Given the description of an element on the screen output the (x, y) to click on. 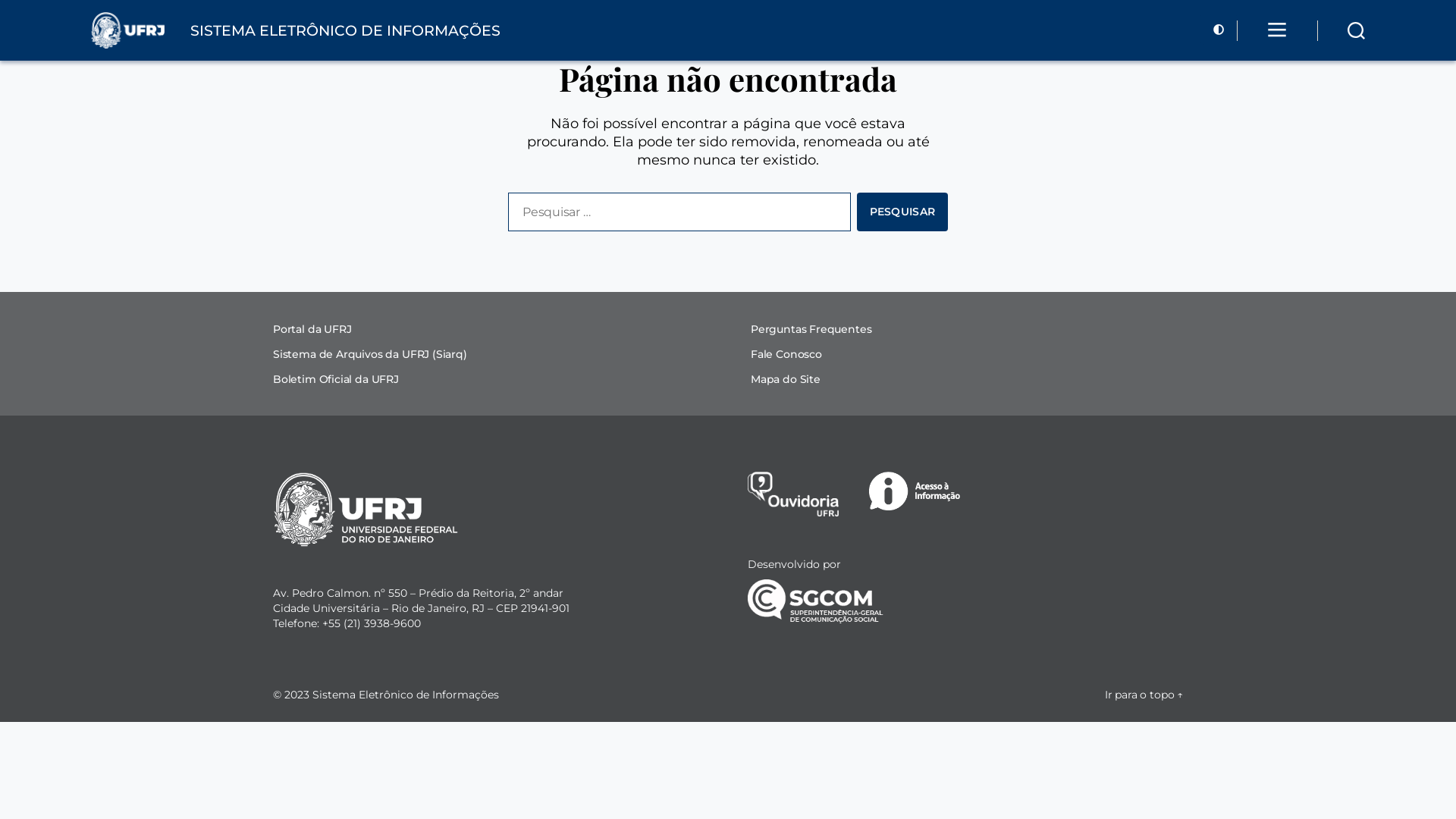
Portal da UFRJ Element type: text (312, 328)
Mapa do Site Element type: text (785, 378)
Pesquisar Element type: text (901, 211)
Perguntas Frequentes Element type: text (810, 328)
Fale Conosco Element type: text (786, 353)
Boletim Oficial da UFRJ Element type: text (335, 378)
Sistema de Arquivos da UFRJ (Siarq) Element type: text (370, 353)
